Given the description of an element on the screen output the (x, y) to click on. 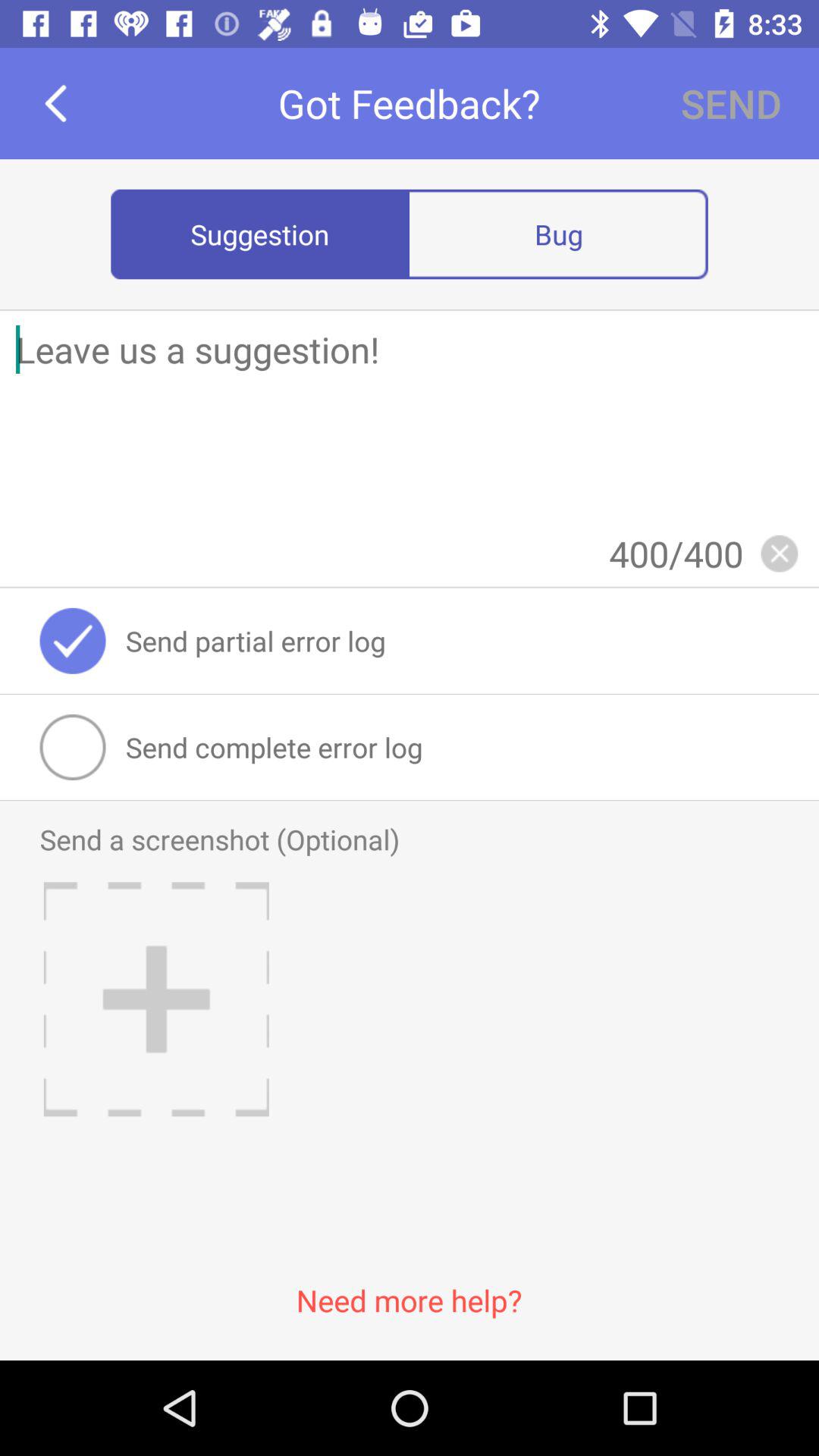
open app to the left of send complete error icon (72, 747)
